Given the description of an element on the screen output the (x, y) to click on. 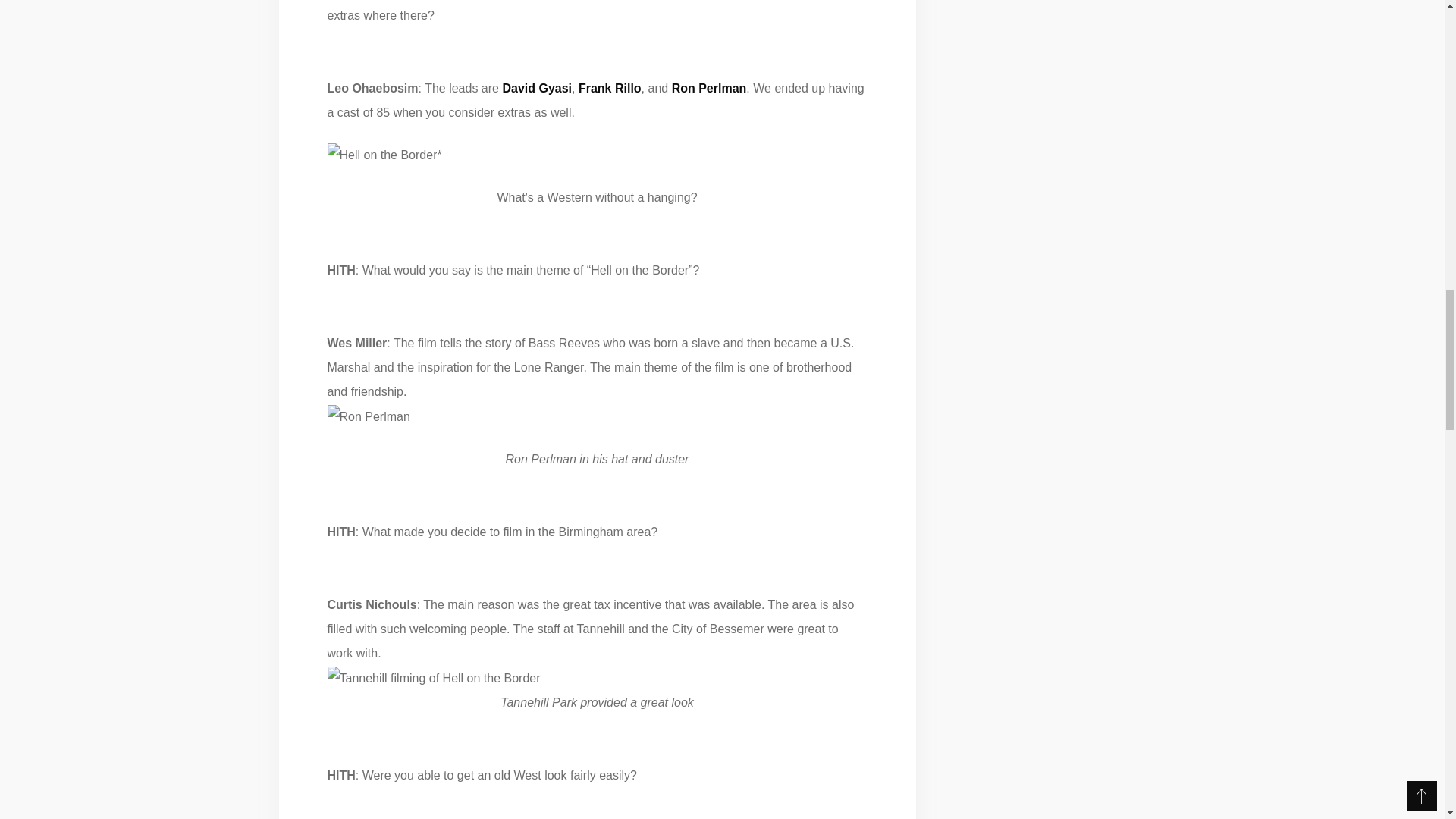
David Gyasi (537, 88)
Frank Rillo (610, 88)
Ron Perlman (708, 88)
